Given the description of an element on the screen output the (x, y) to click on. 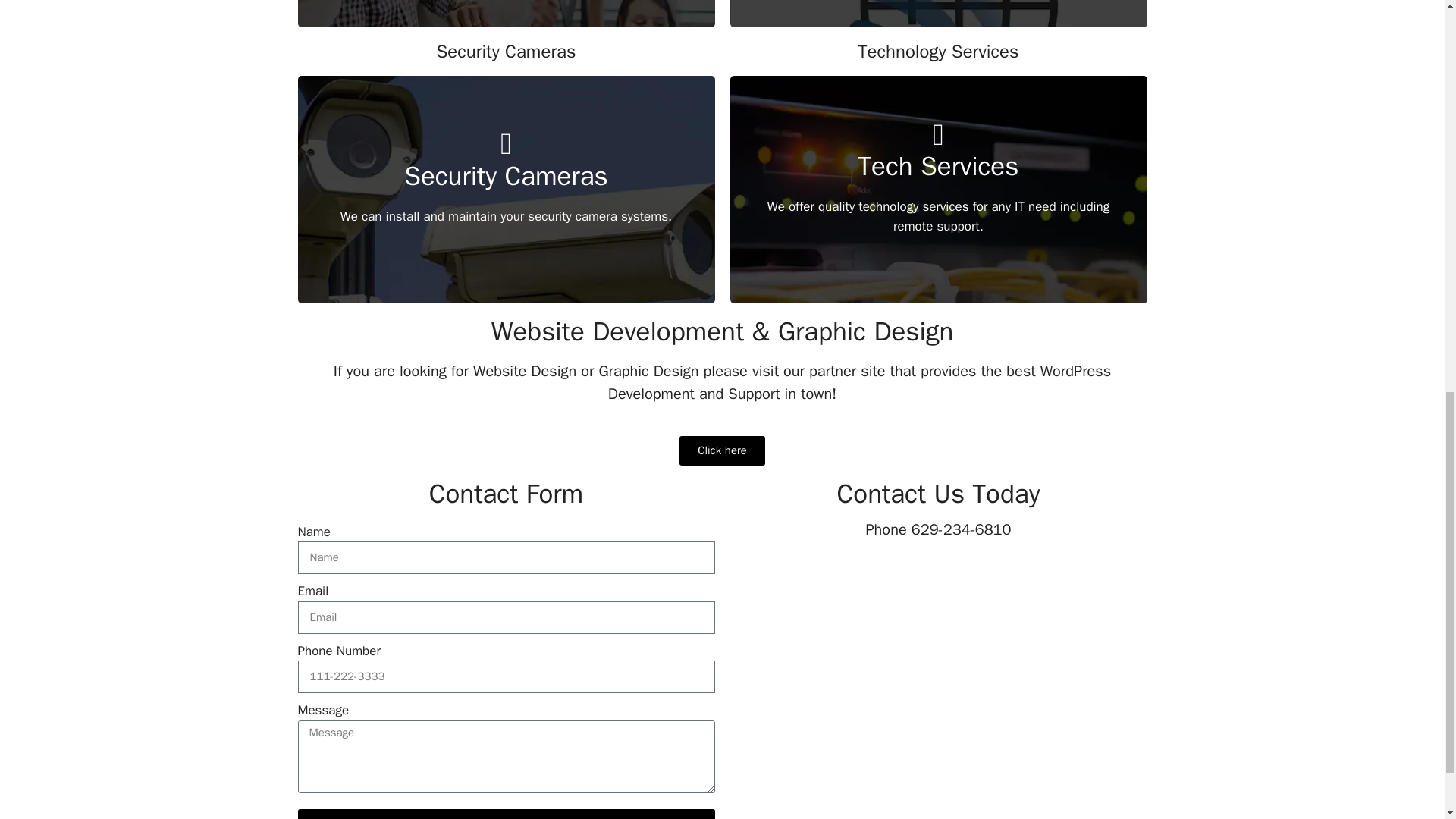
Send (505, 813)
Get Started (505, 255)
Click here (722, 449)
Hendersonville, TN  (938, 685)
Get Started (938, 255)
